Given the description of an element on the screen output the (x, y) to click on. 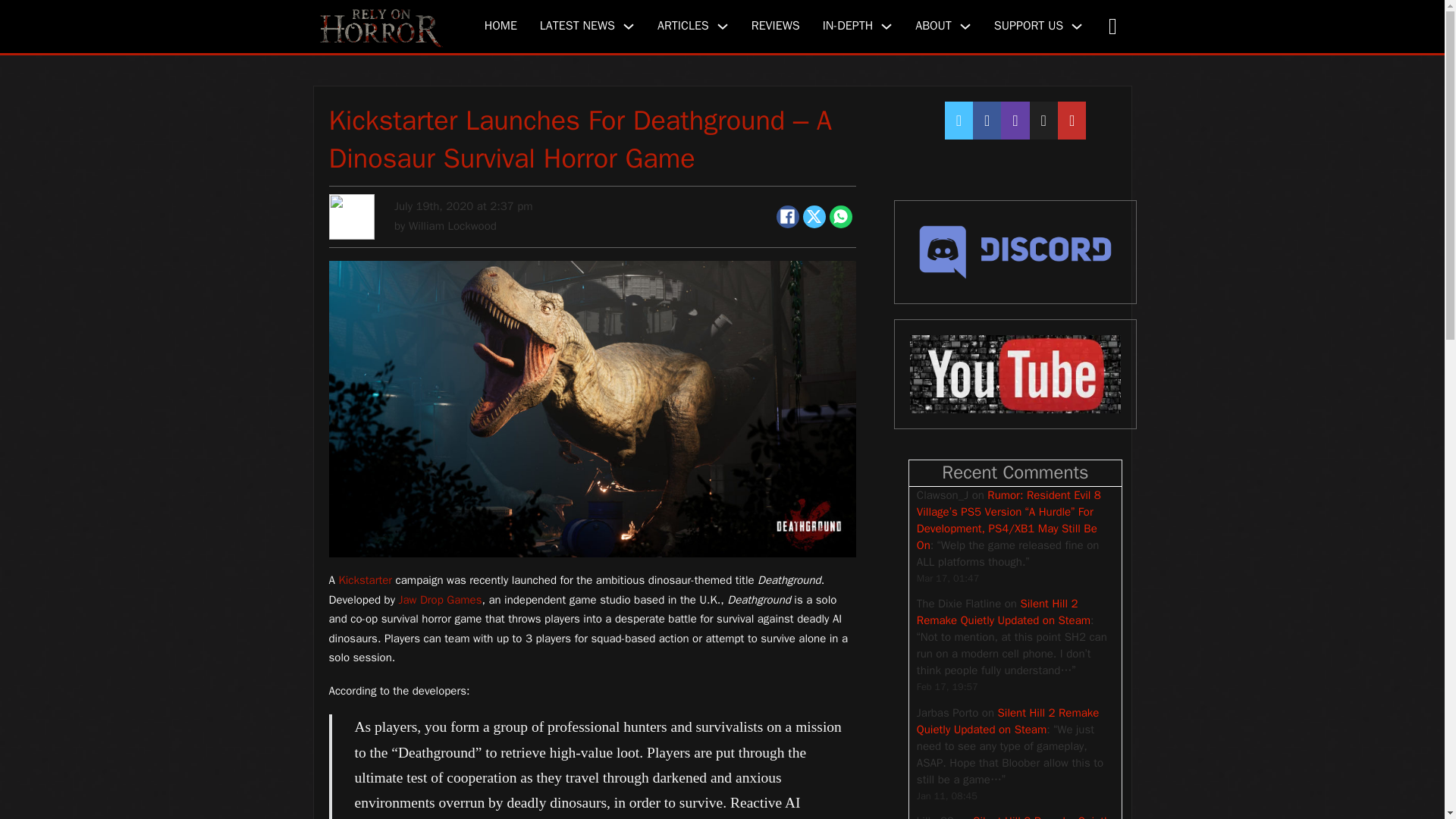
ABOUT (933, 25)
Posts by William Lockwood (452, 225)
HOME (500, 25)
Discord (1015, 251)
IN-DEPTH (847, 25)
YouTube (1015, 374)
LATEST NEWS (577, 25)
ARTICLES (683, 25)
REVIEWS (775, 25)
